Given the description of an element on the screen output the (x, y) to click on. 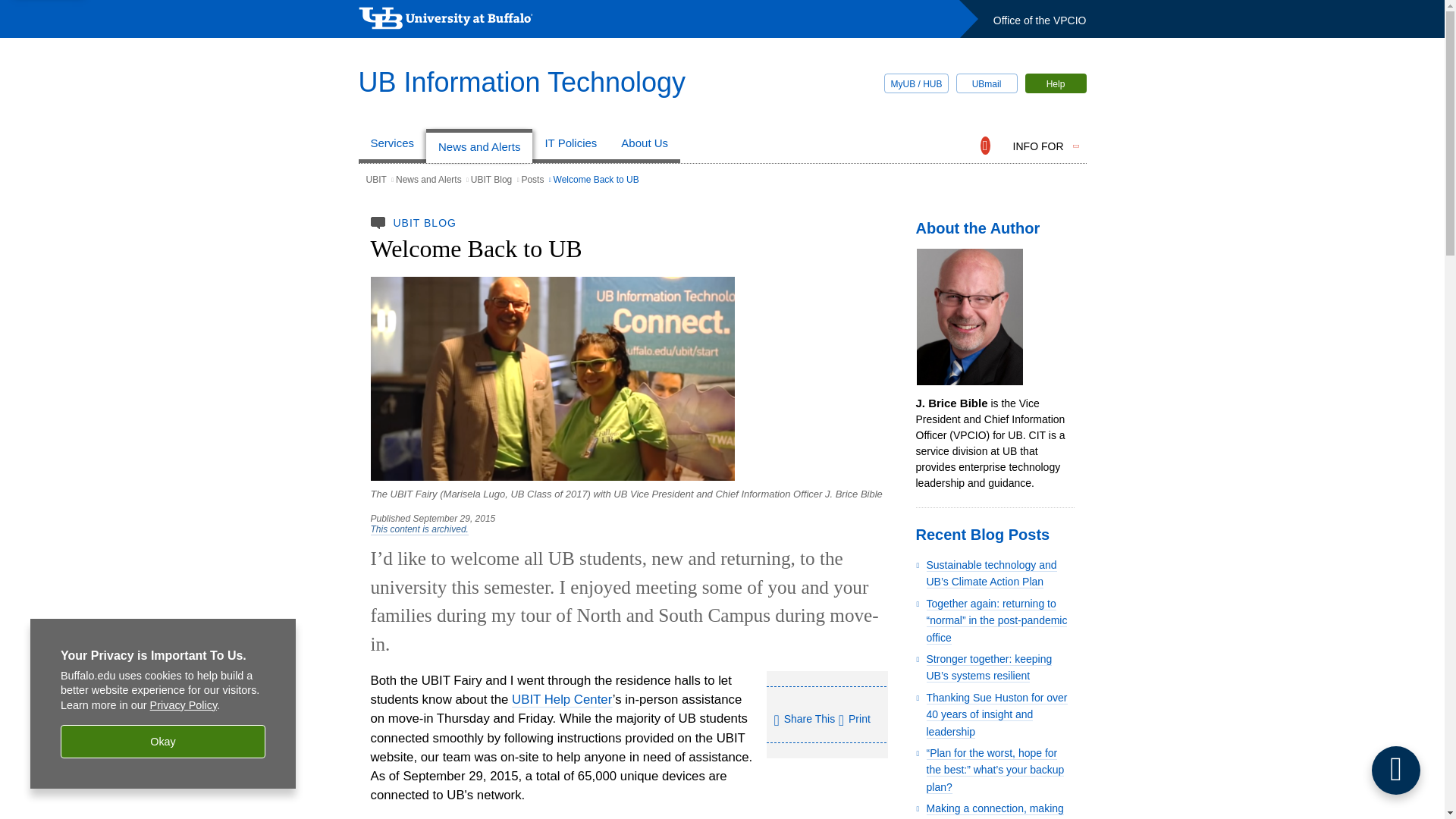
Help (1055, 83)
IT Policies (570, 145)
About Us (643, 145)
Services (392, 145)
UBmail (985, 83)
UB Information Technology (521, 81)
INFO FOR (1038, 146)
Office of the VPCIO (1039, 19)
News and Alerts (479, 145)
